Given the description of an element on the screen output the (x, y) to click on. 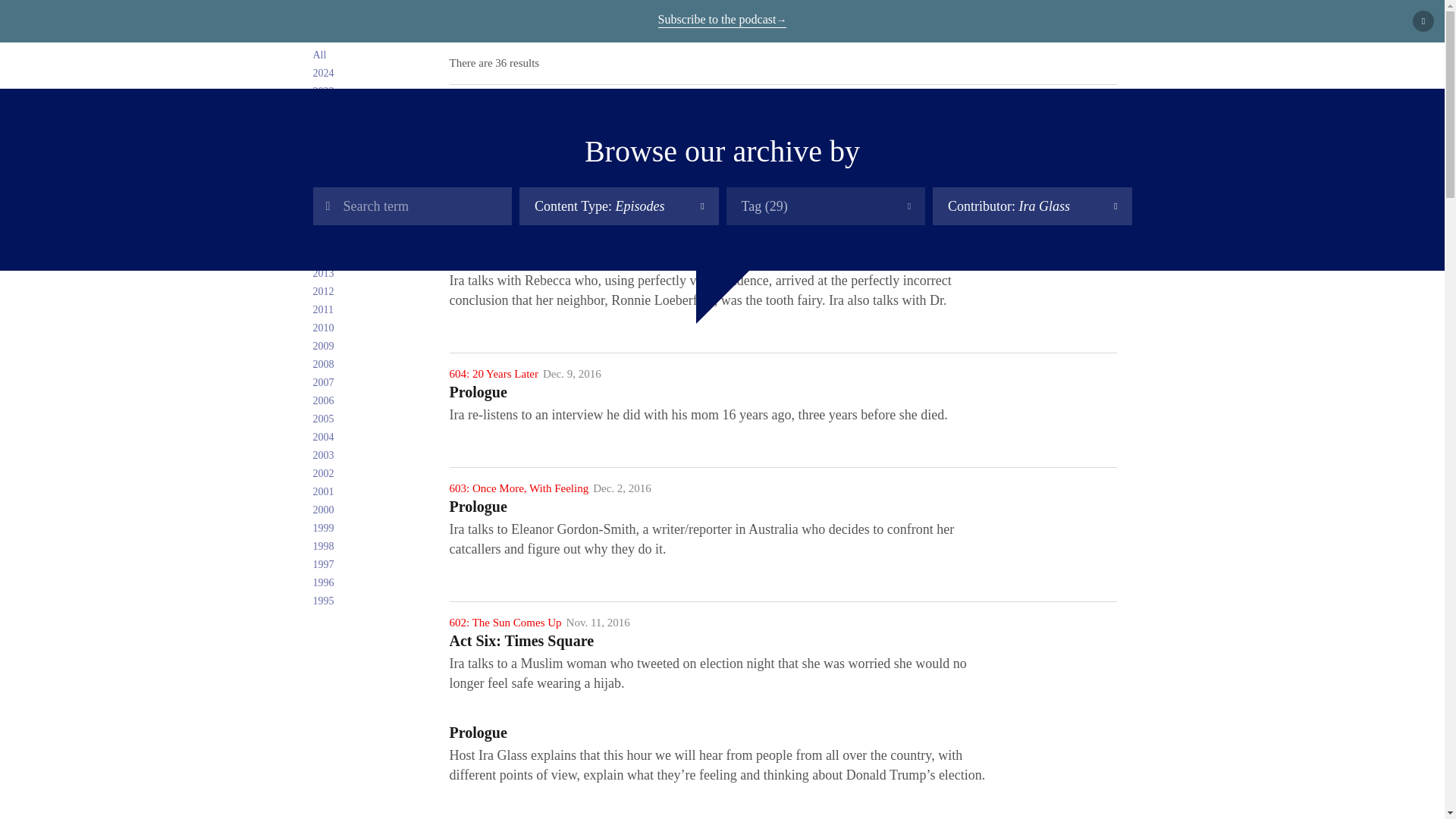
This American Life (312, 23)
